Given the description of an element on the screen output the (x, y) to click on. 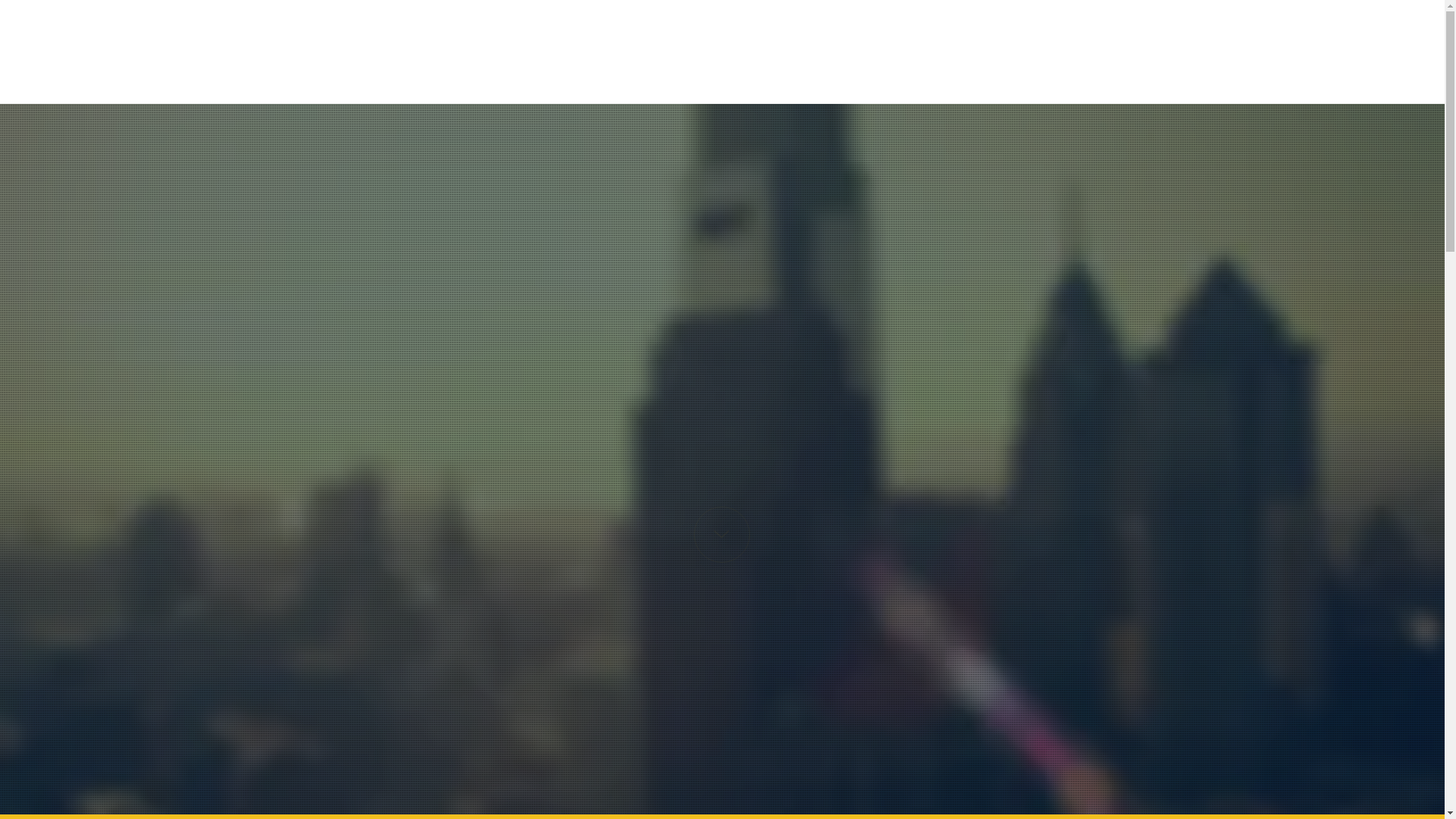
Our Product Element type: text (876, 51)
Our Team Element type: text (969, 51)
